Given the description of an element on the screen output the (x, y) to click on. 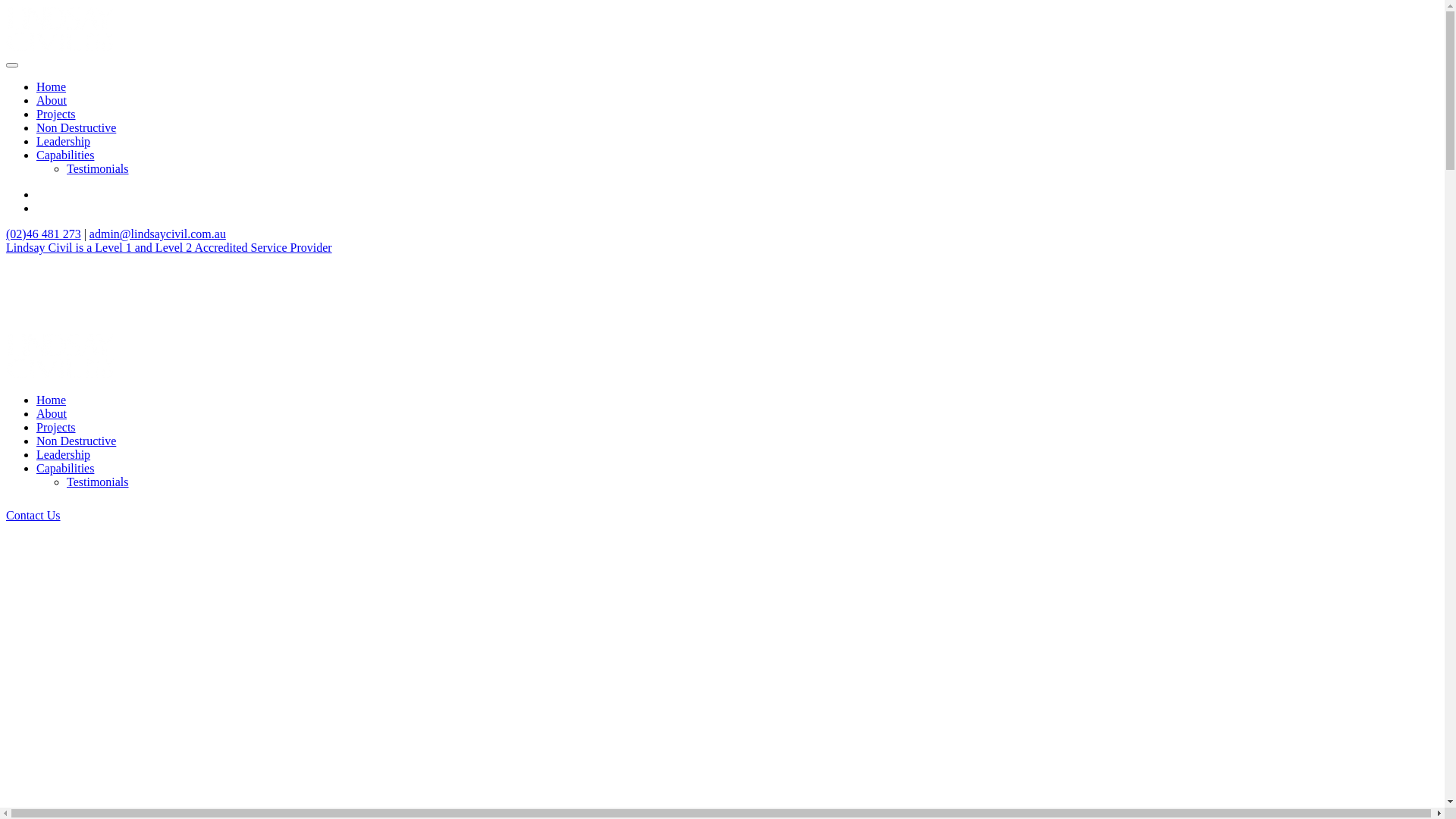
About Element type: text (51, 413)
Home Element type: text (50, 86)
Capabilities Element type: text (65, 467)
Leadership Element type: text (63, 140)
Testimonials Element type: text (97, 168)
Contact Us Element type: text (33, 514)
Projects Element type: text (55, 426)
Home Element type: text (50, 399)
Projects Element type: text (55, 113)
About Element type: text (51, 100)
Non Destructive Element type: text (76, 440)
admin@lindsaycivil.com.au Element type: text (157, 233)
Capabilities Element type: text (65, 154)
Testimonials Element type: text (97, 481)
Non Destructive Element type: text (76, 127)
(02)46 481 273 Element type: text (43, 233)
Leadership Element type: text (63, 454)
